Given the description of an element on the screen output the (x, y) to click on. 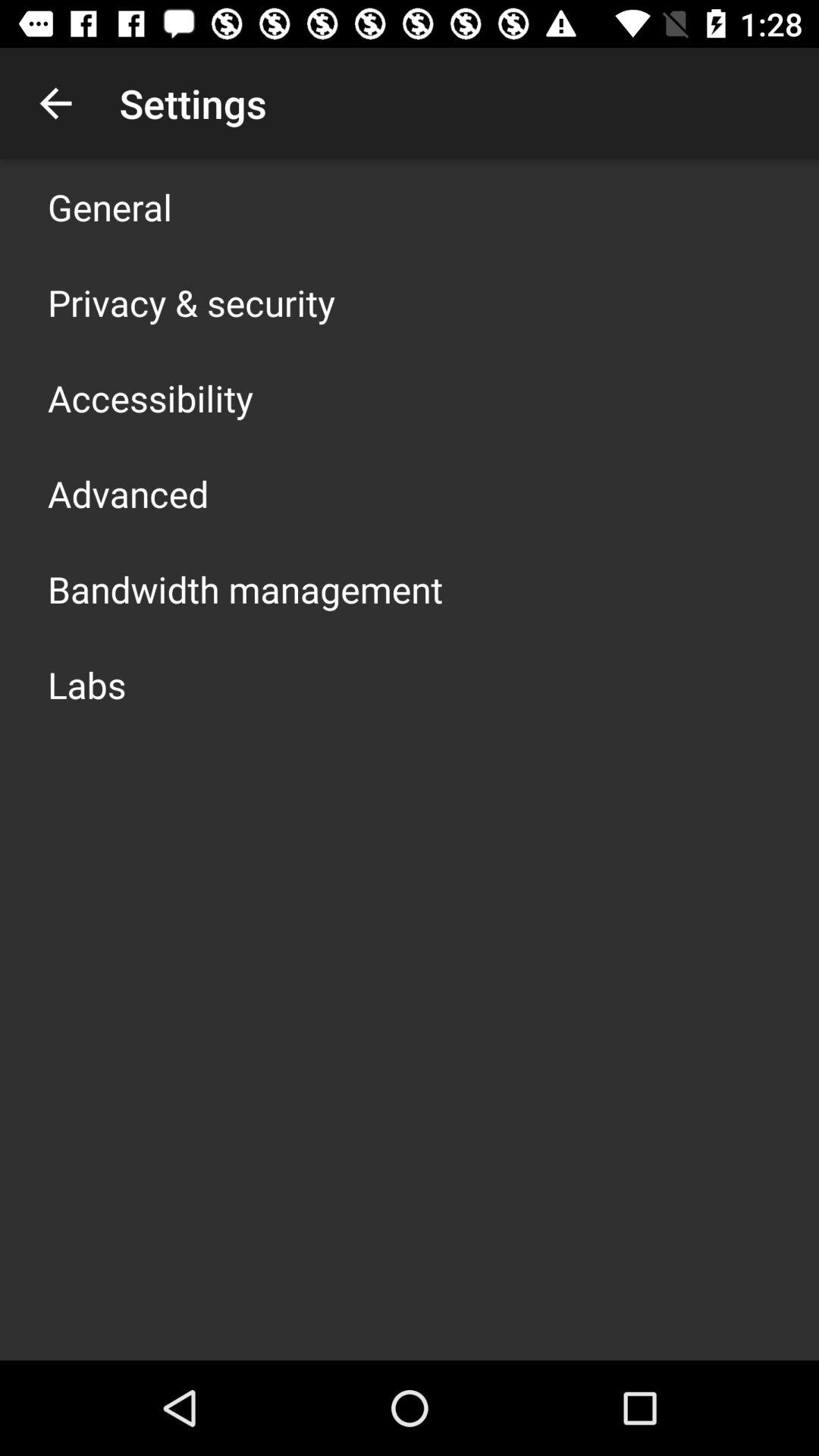
select icon below the general item (190, 302)
